Given the description of an element on the screen output the (x, y) to click on. 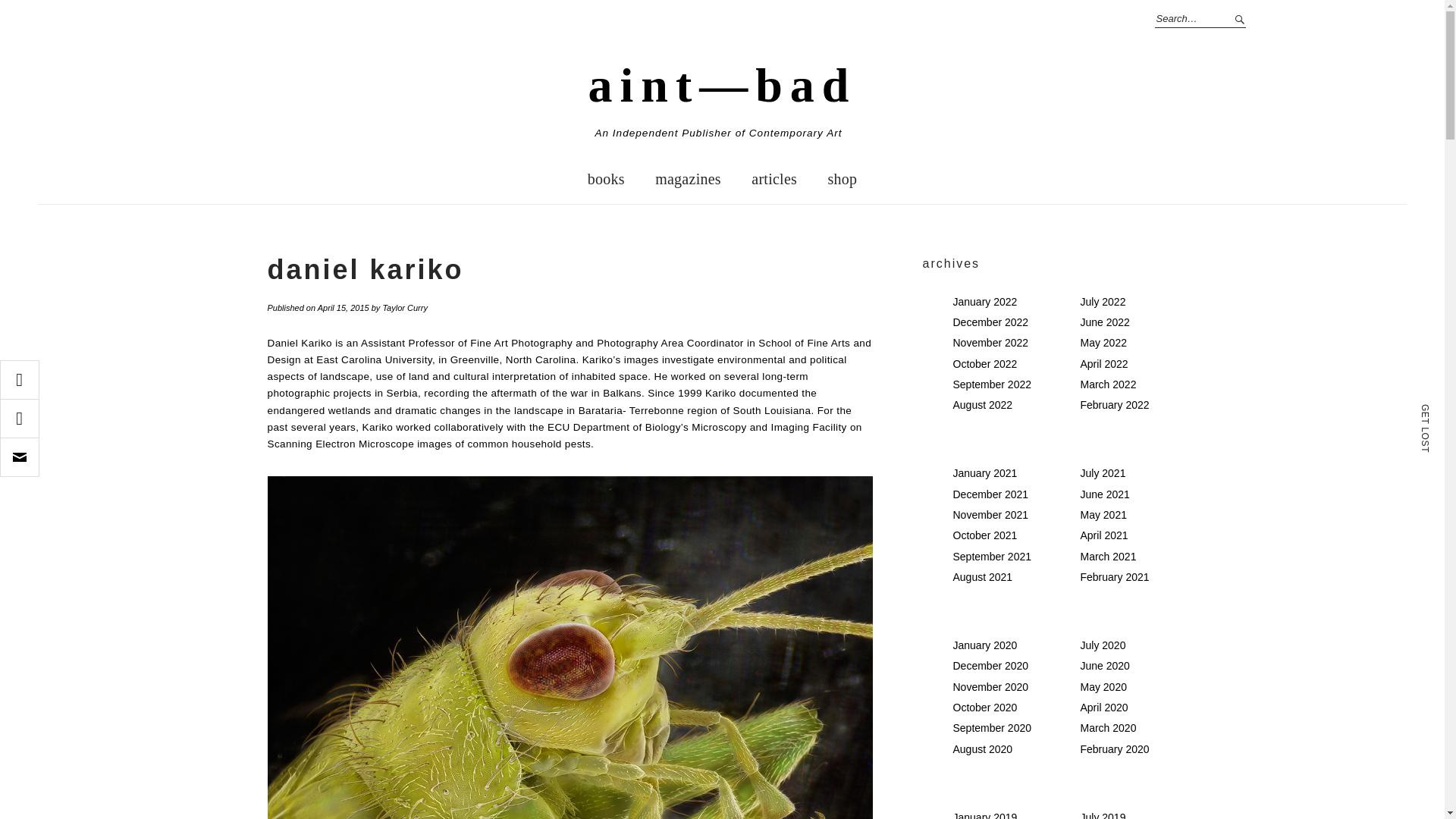
October 2022 (984, 363)
May 2022 (1102, 342)
Taylor Curry (404, 307)
June 2022 (1104, 322)
All posts by Taylor Curry (404, 307)
August 2022 (981, 404)
articles (774, 178)
shop (841, 178)
September 2022 (991, 384)
July 2022 (1102, 301)
December 2022 (989, 322)
November 2022 (989, 342)
magazines (688, 178)
April 15, 2015 (343, 307)
books (606, 178)
